Given the description of an element on the screen output the (x, y) to click on. 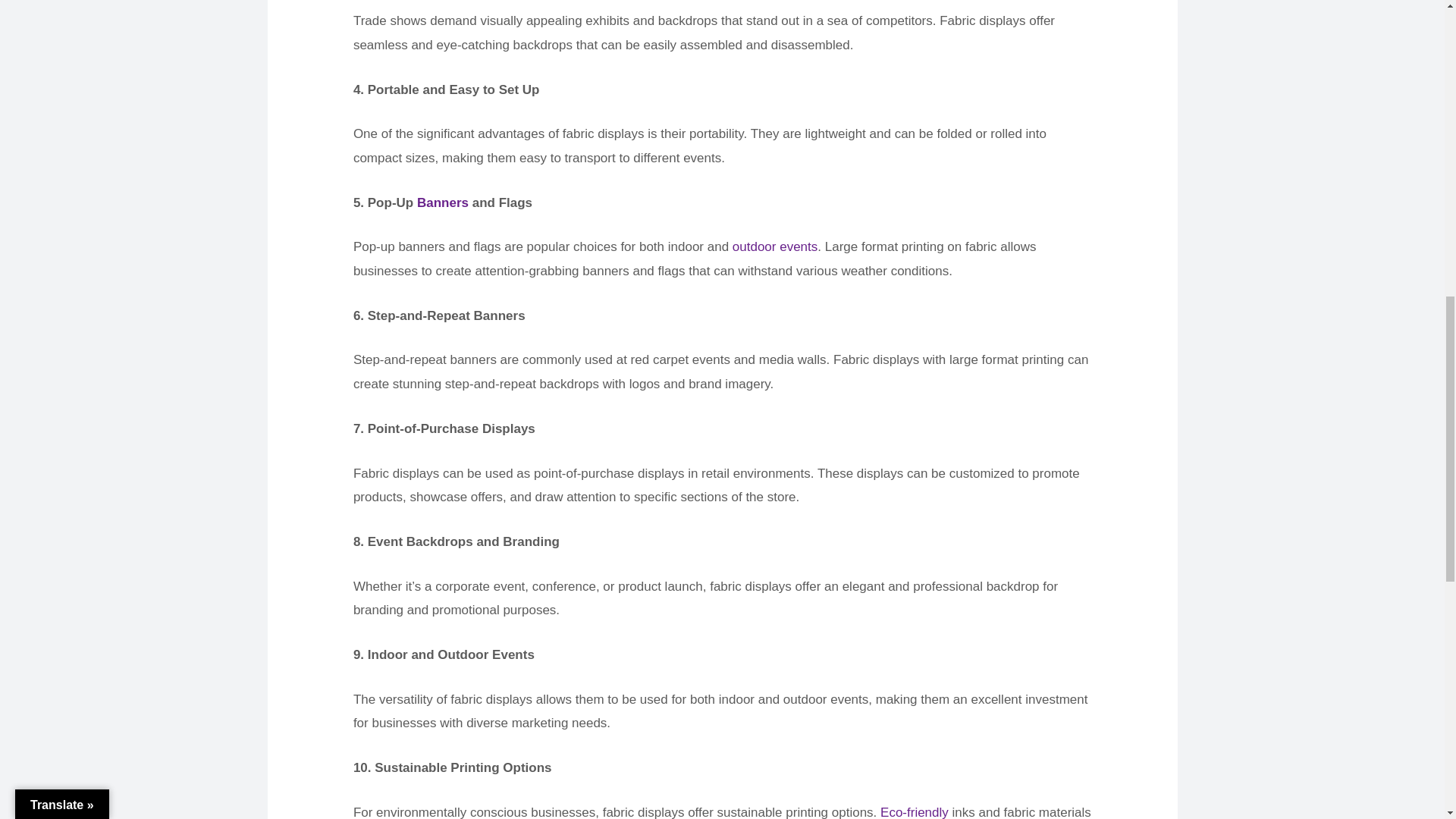
Eco-friendly (914, 812)
Banners (442, 202)
outdoor events (774, 246)
